Given the description of an element on the screen output the (x, y) to click on. 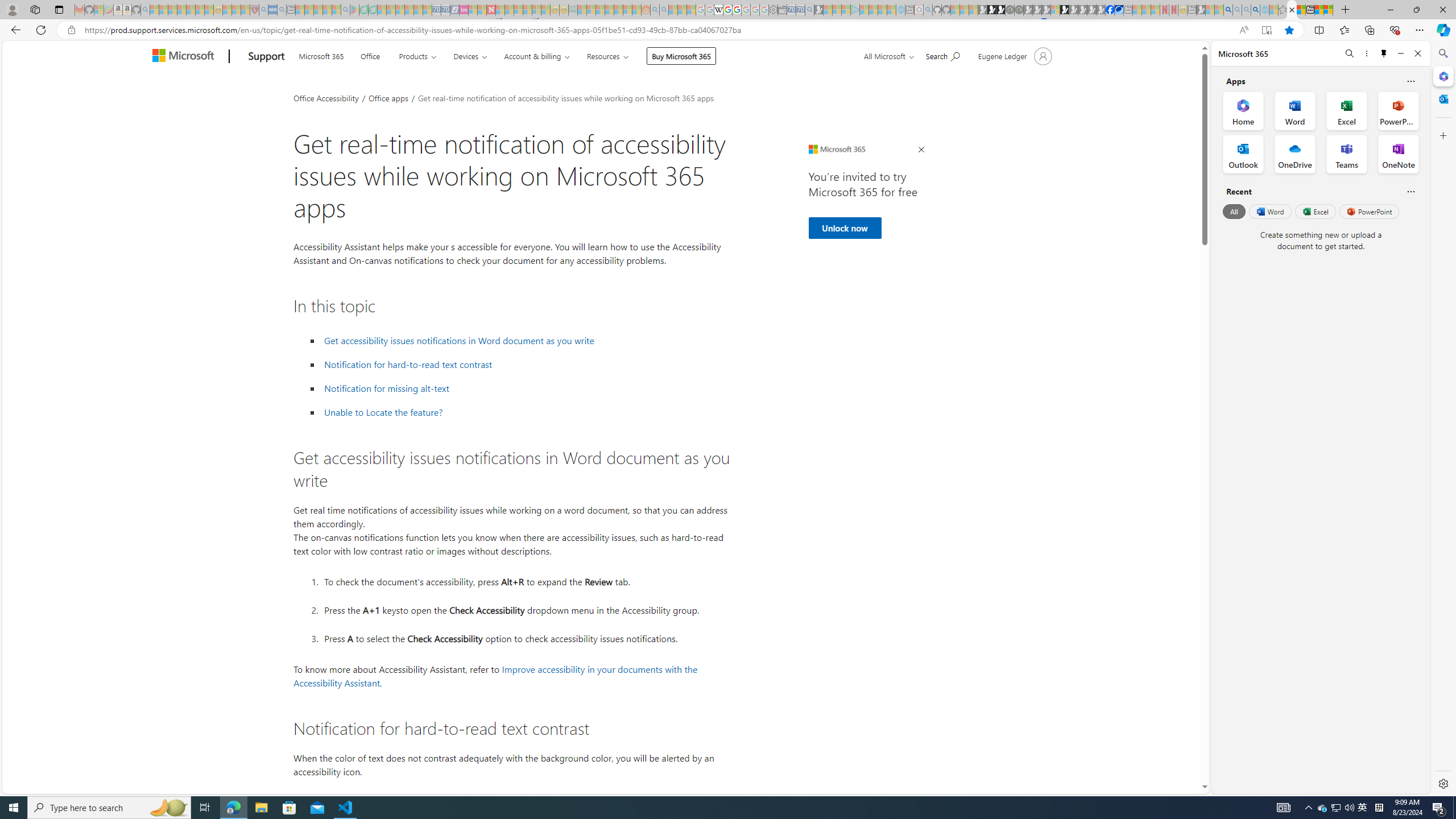
Close Microsoft 365 pane (1442, 76)
AirNow.gov (1118, 9)
Sign in to your account - Sleeping (1054, 9)
Buy Microsoft 365 (681, 55)
utah sues federal government - Search - Sleeping (281, 9)
